Given the description of an element on the screen output the (x, y) to click on. 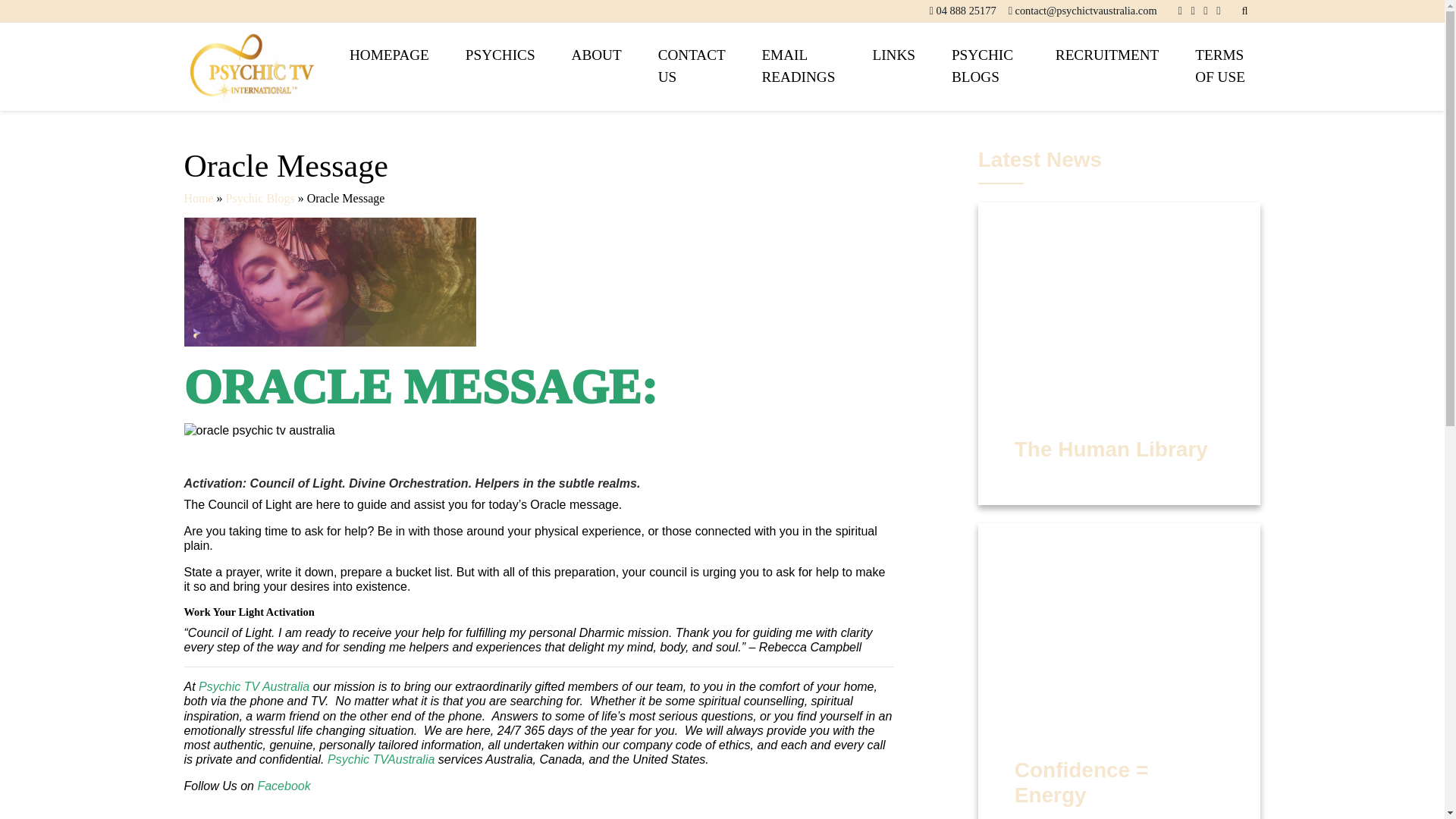
Terms of Use (1218, 66)
PSYCHICS (499, 55)
04 888 25177 (965, 10)
EMAIL READINGS (797, 66)
Homepage (388, 55)
PSYCHIC BLOGS (984, 66)
Psychic Blogs (984, 66)
RECRUITMENT (1106, 55)
Psychics (499, 55)
LINKS (893, 55)
Search (944, 25)
ABOUT (596, 55)
CONTACT US (692, 66)
TERMS OF USE (1218, 66)
LINKS (893, 55)
